Given the description of an element on the screen output the (x, y) to click on. 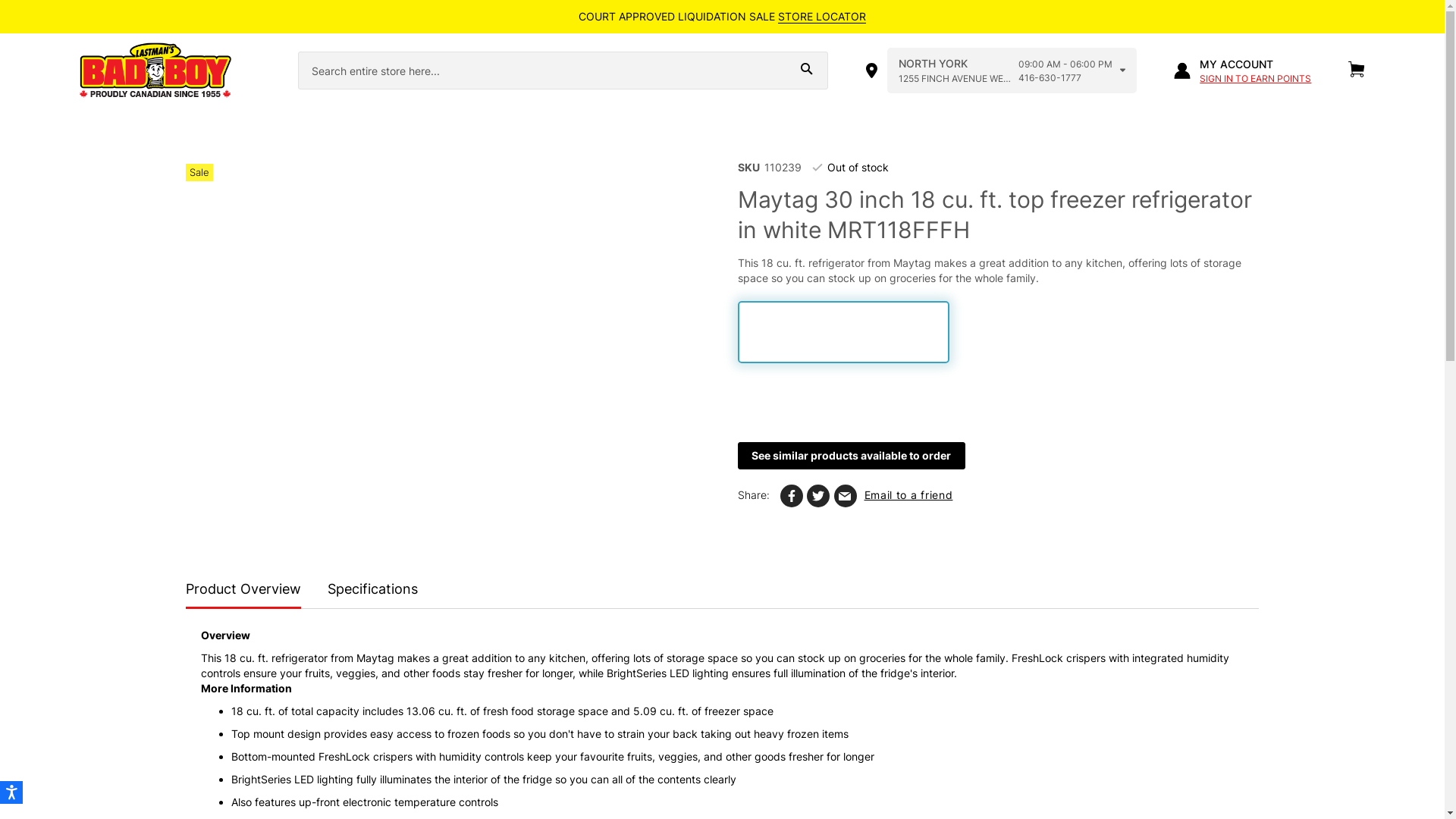
Product Overview Element type: text (243, 591)
Specifications Element type: text (372, 590)
See similar products available to order Element type: text (850, 455)
Email to a friend Element type: text (893, 496)
MY ACCOUNT
SIGN IN TO EARN POINTS Element type: text (1242, 70)
Search Element type: text (806, 68)
STORE LOCATOR Element type: text (822, 16)
Lastman's Bad Boy Element type: hover (154, 70)
Lastman's Bad Boy Element type: hover (174, 70)
